Given the description of an element on the screen output the (x, y) to click on. 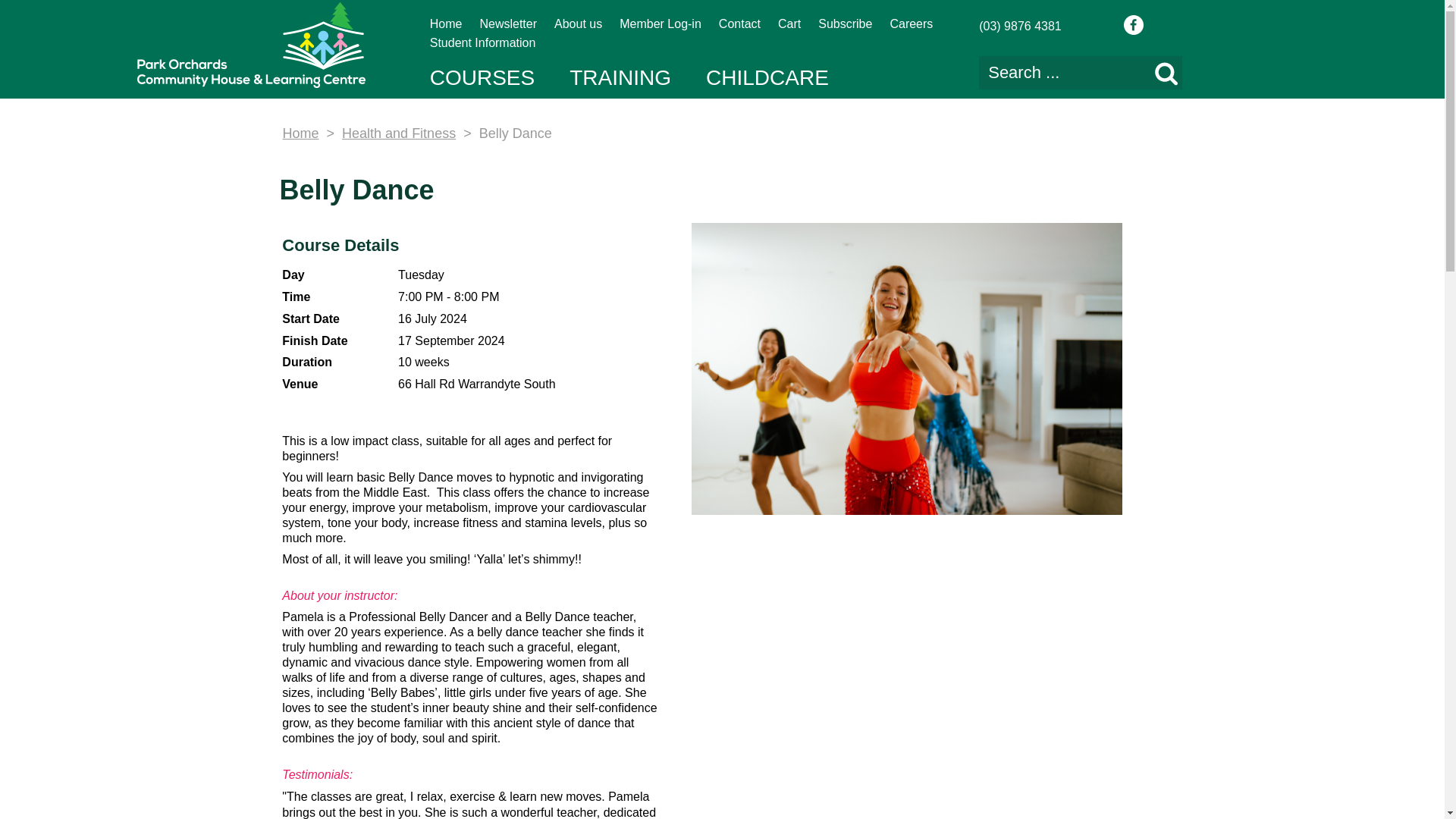
Contact (739, 23)
Subscribe (845, 23)
Home (446, 23)
Student Information (482, 42)
CHILDCARE (767, 77)
Careers (911, 23)
Cart (788, 23)
Search ... (1079, 72)
Newsletter (508, 23)
COURSES (481, 77)
TRAINING (620, 77)
About us (578, 23)
Member Log-in (660, 23)
